Given the description of an element on the screen output the (x, y) to click on. 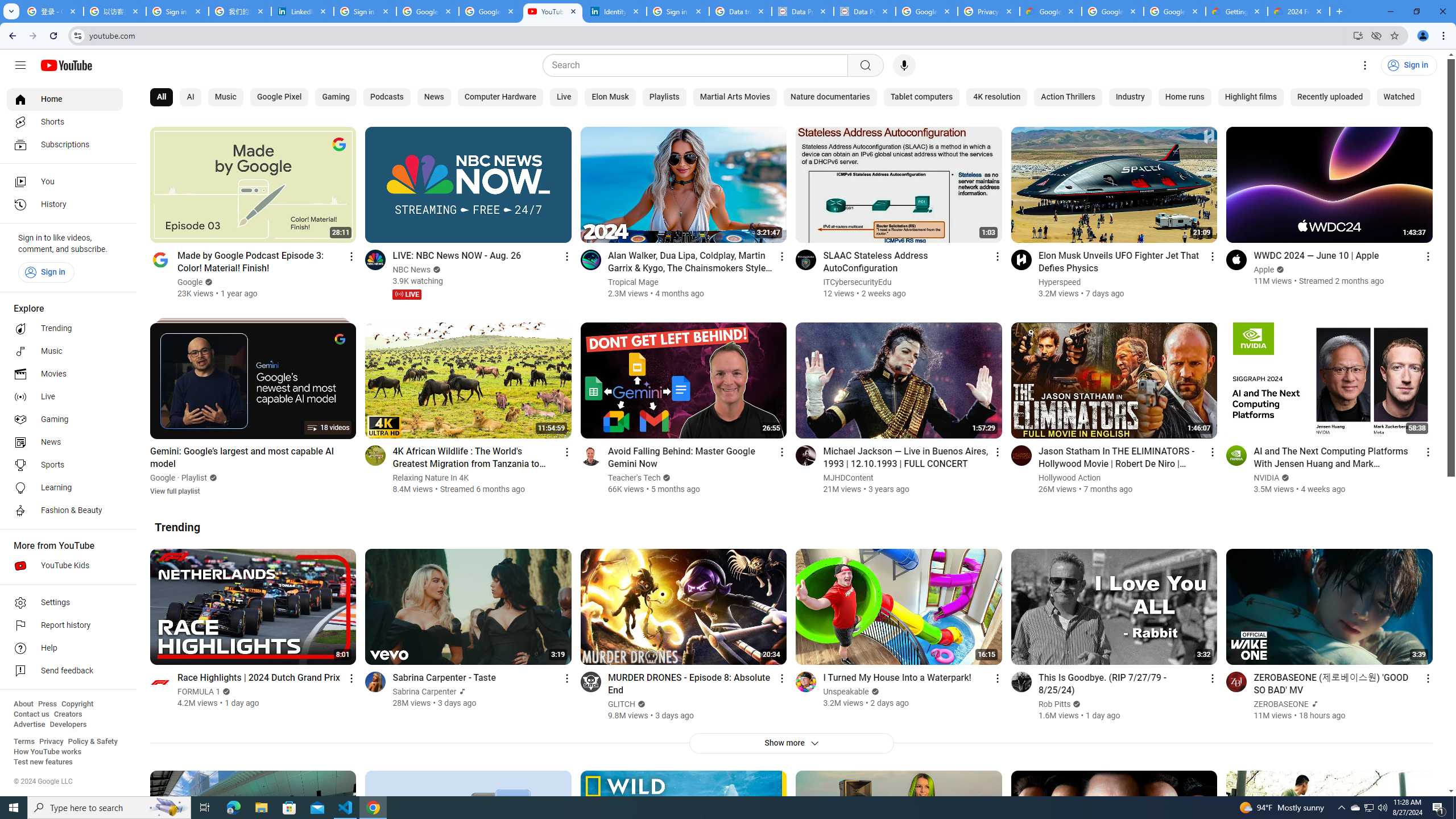
NBC News (411, 269)
Press (46, 703)
Live (563, 97)
Developers (68, 724)
Rob Pitts (1054, 704)
Creators (67, 714)
LinkedIn Privacy Policy (302, 11)
AI (189, 97)
